Given the description of an element on the screen output the (x, y) to click on. 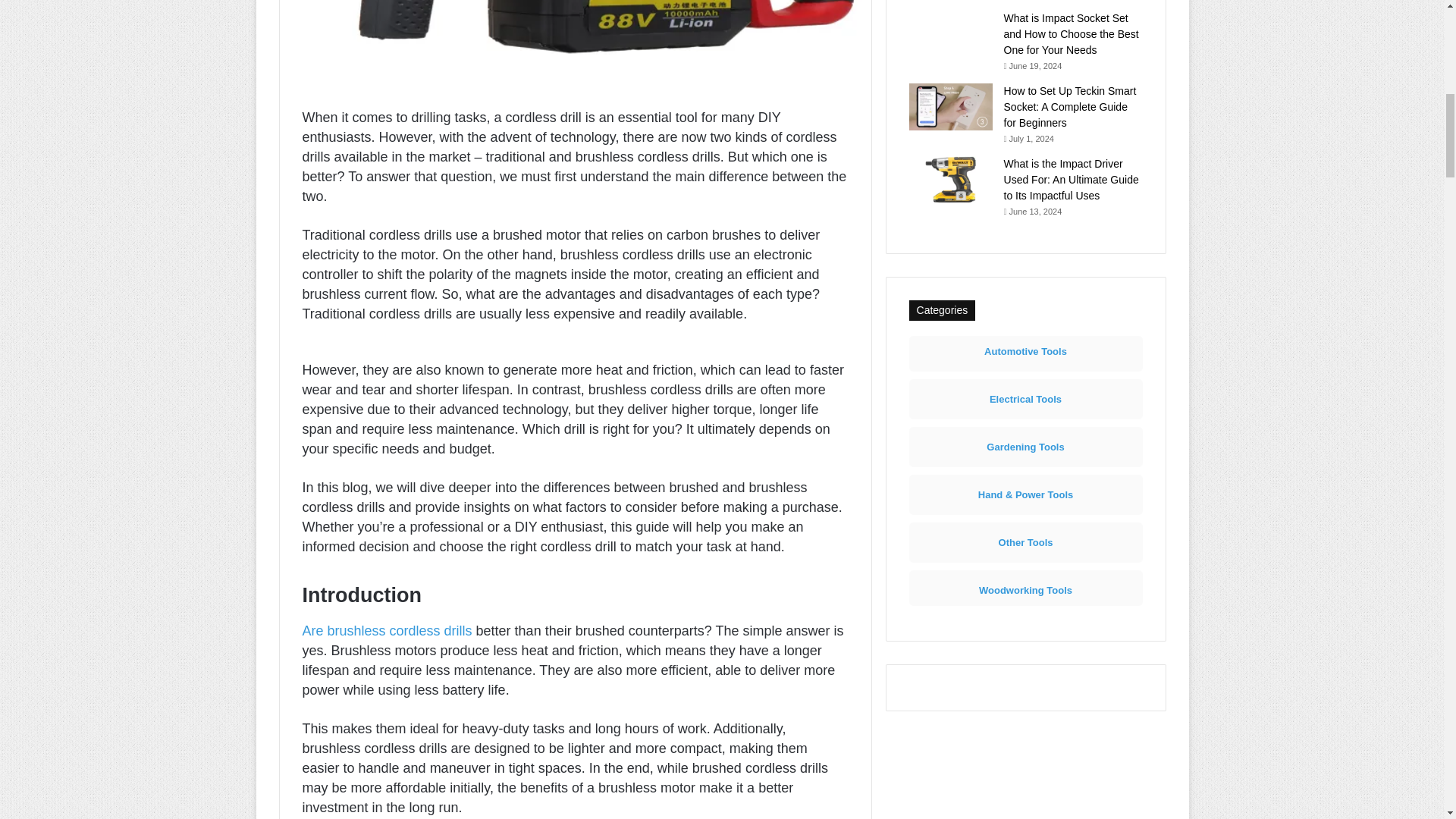
Are brushless cordless drills (386, 630)
is brushless cordless drill better (574, 36)
